Given the description of an element on the screen output the (x, y) to click on. 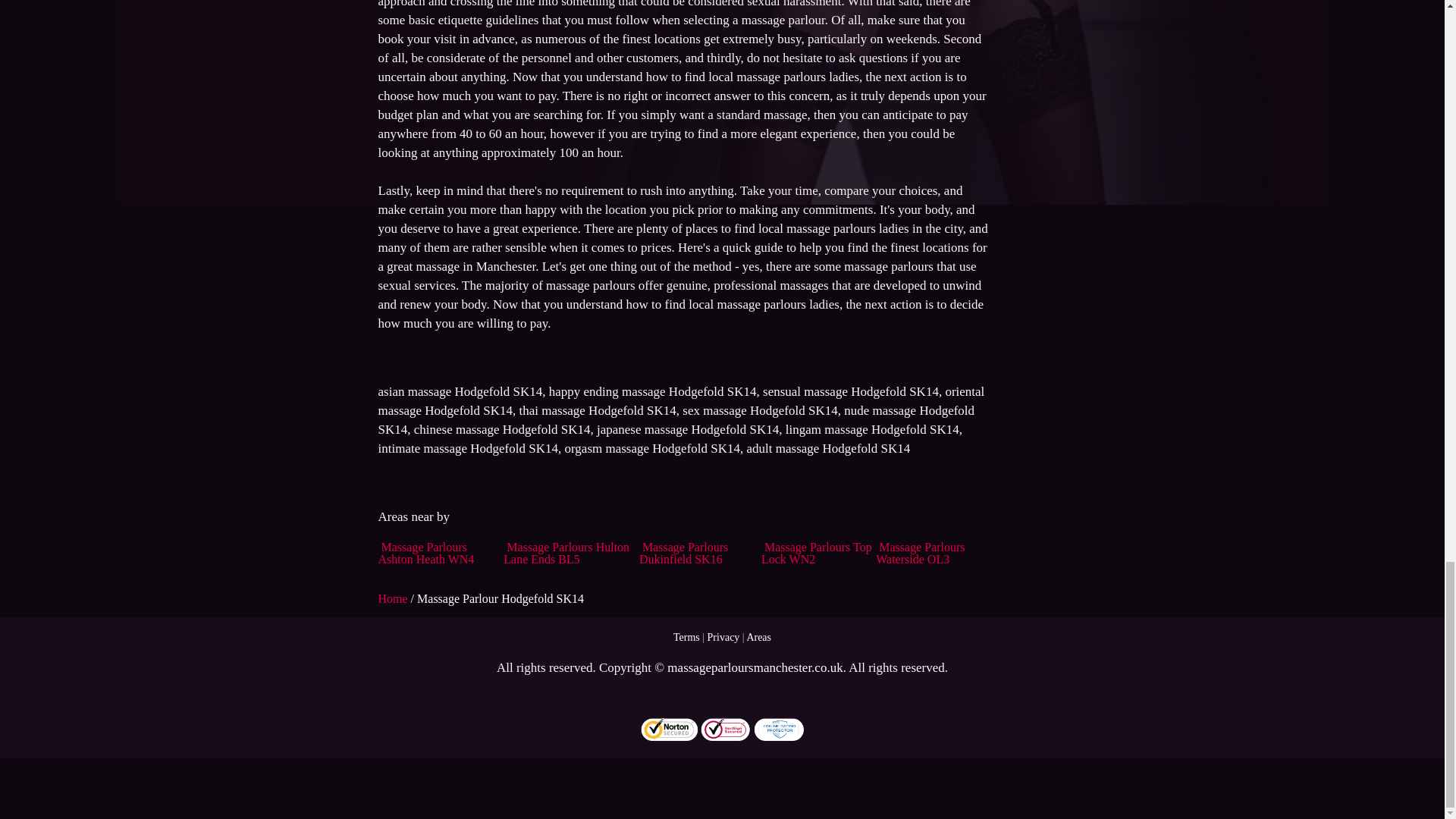
Privacy (723, 636)
Massage Parlours Top Lock WN2 (816, 552)
Massage Parlours Ashton Heath WN4 (425, 552)
Home (393, 598)
Massage Parlours Dukinfield SK16 (683, 552)
Massage Parlours Hulton Lane Ends BL5 (565, 552)
Privacy (723, 636)
massageparloursmanchester.co.uk (754, 667)
Terms (686, 636)
Areas (758, 636)
